Given the description of an element on the screen output the (x, y) to click on. 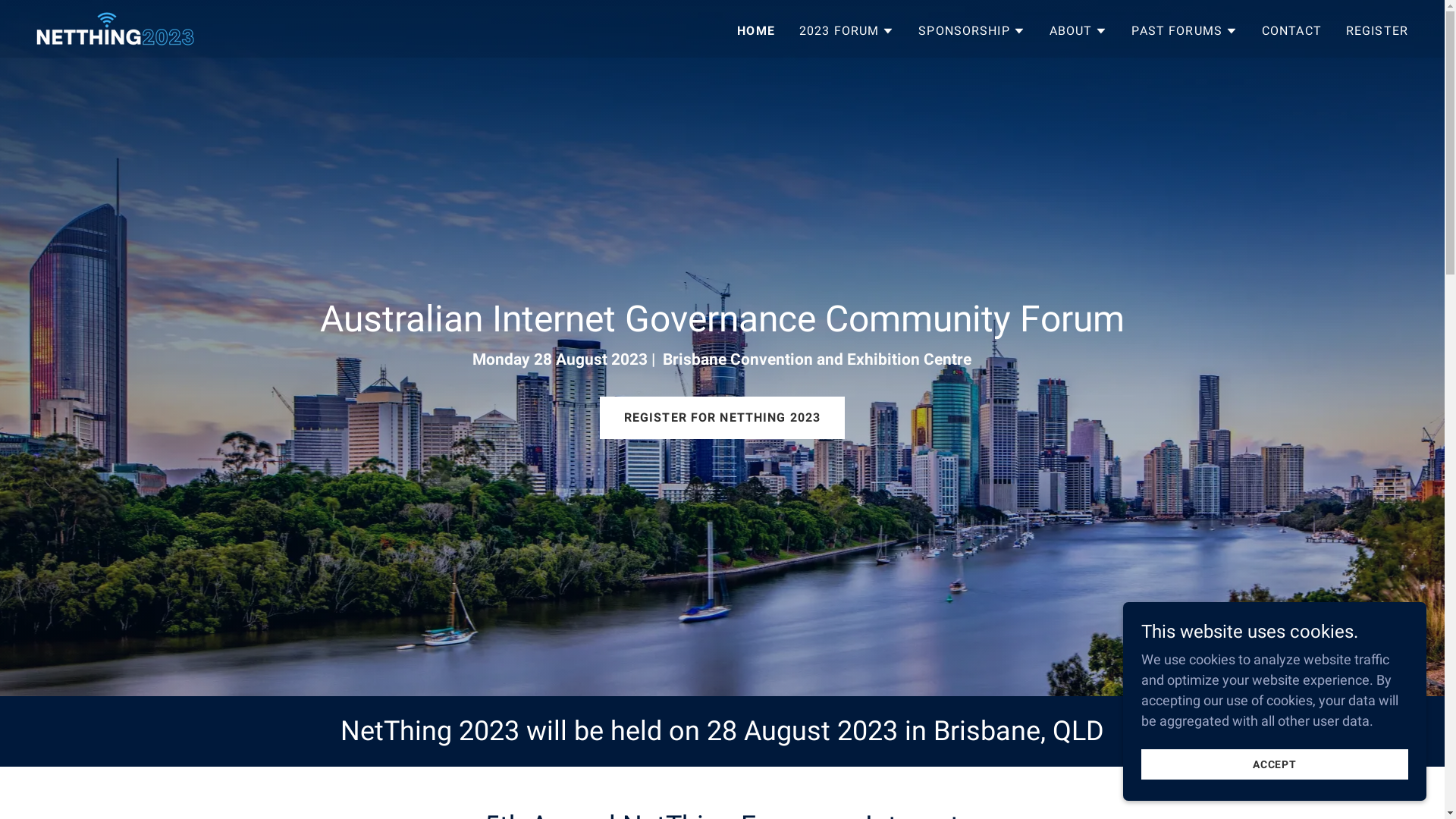
ABOUT Element type: text (1078, 30)
2023 FORUM Element type: text (846, 30)
CONTACT Element type: text (1291, 29)
ACCEPT Element type: text (1274, 764)
REGISTER FOR NETTHING 2023 Element type: text (722, 417)
HOME Element type: text (756, 30)
PAST FORUMS Element type: text (1184, 30)
NetThing Element type: hover (115, 27)
SPONSORSHIP Element type: text (971, 30)
REGISTER Element type: text (1376, 29)
